Given the description of an element on the screen output the (x, y) to click on. 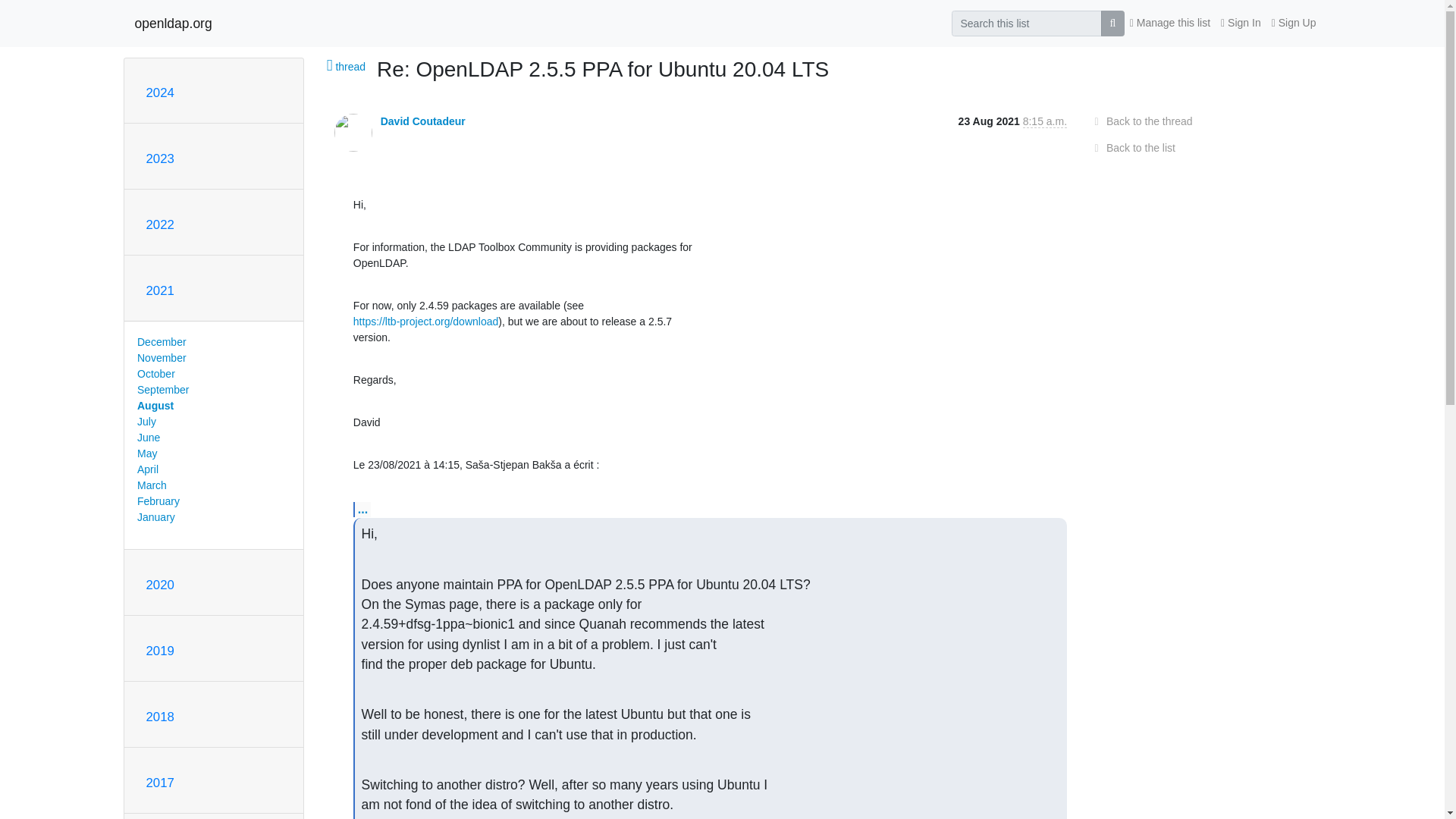
2024 (159, 92)
2023 (159, 158)
See the profile for David Coutadeur (422, 121)
openldap.org (173, 22)
Sender's time: Aug. 23, 2021, 5:15 p.m. (1045, 121)
Sign Up (1294, 22)
Sign In (1240, 22)
Manage this list (1169, 22)
2022 (159, 224)
